Given the description of an element on the screen output the (x, y) to click on. 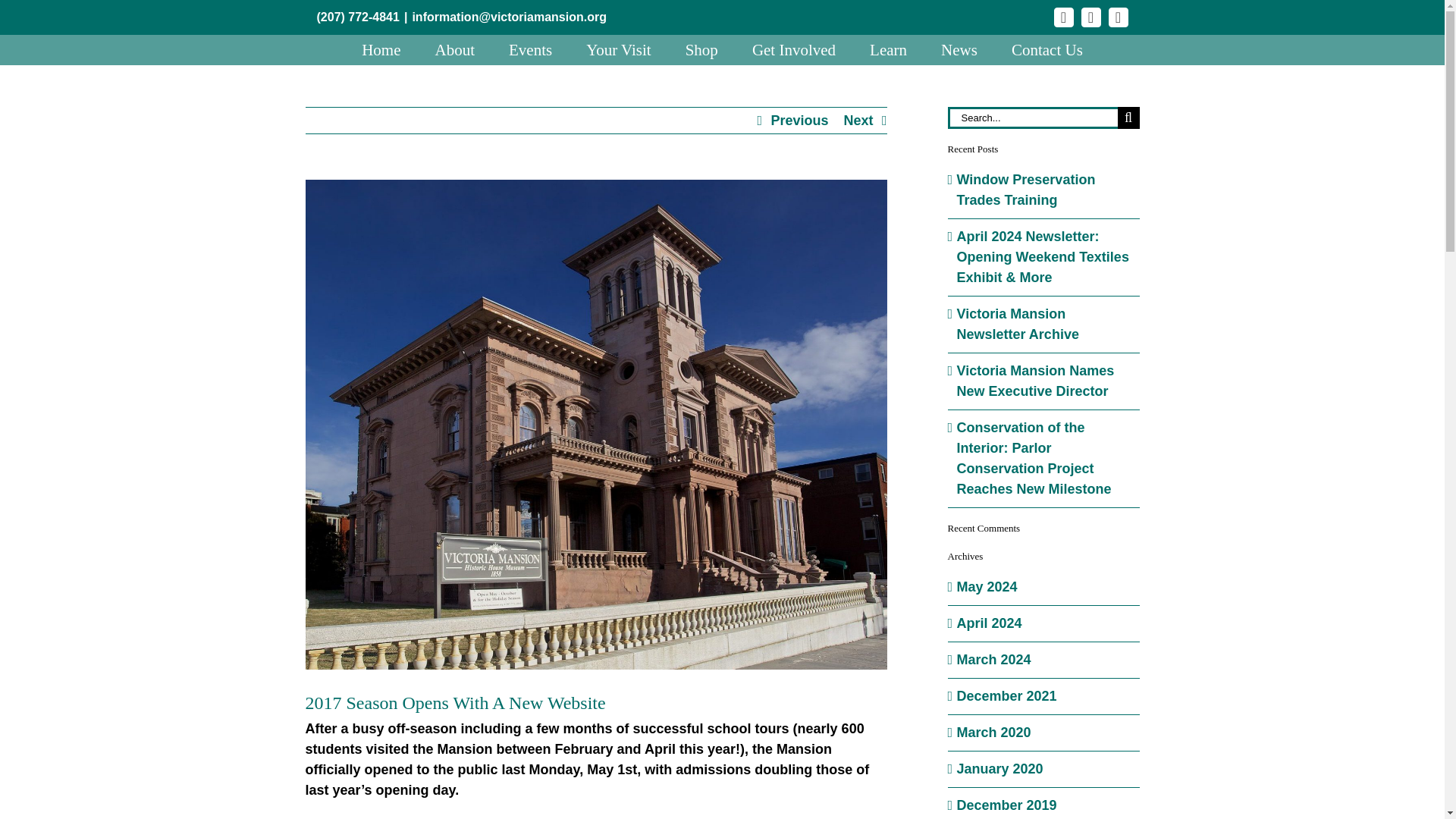
Home (380, 50)
Get Involved (793, 50)
About (455, 50)
Your Visit (618, 50)
Events (529, 50)
Shop (701, 50)
Facebook (1064, 17)
Learn (888, 50)
Contact Us (1047, 50)
YouTube (1118, 17)
Instagram (1090, 17)
News (958, 50)
